Given the description of an element on the screen output the (x, y) to click on. 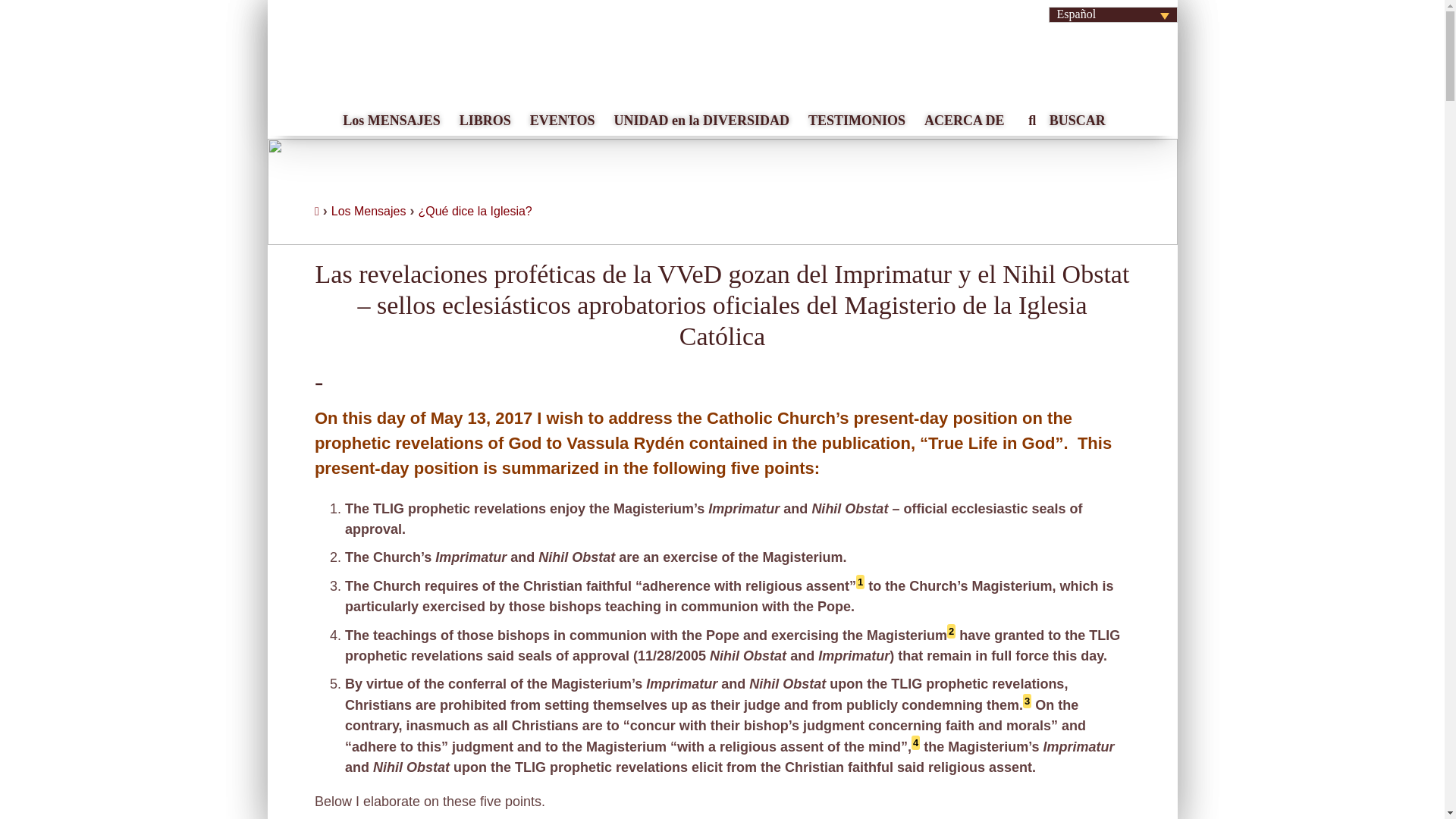
LIBROS (483, 115)
Los MENSAJES (389, 115)
